Given the description of an element on the screen output the (x, y) to click on. 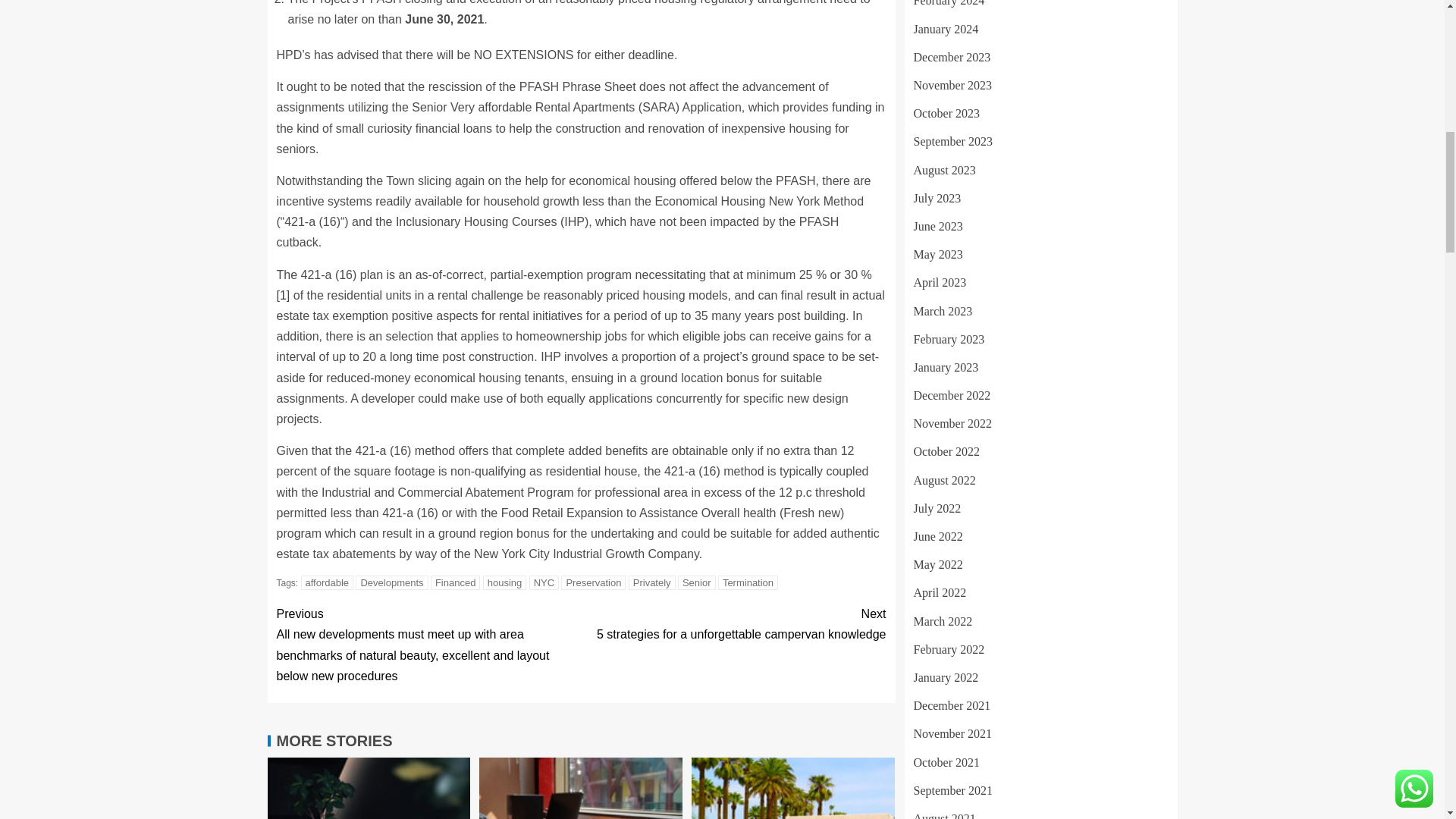
Is Selling Your Own Home Right For You? (793, 788)
housing (505, 582)
NYC (544, 582)
Senior (697, 582)
Privately (651, 582)
affordable (327, 582)
Developments (732, 623)
Termination (391, 582)
Preservation (747, 582)
Financed (593, 582)
